Given the description of an element on the screen output the (x, y) to click on. 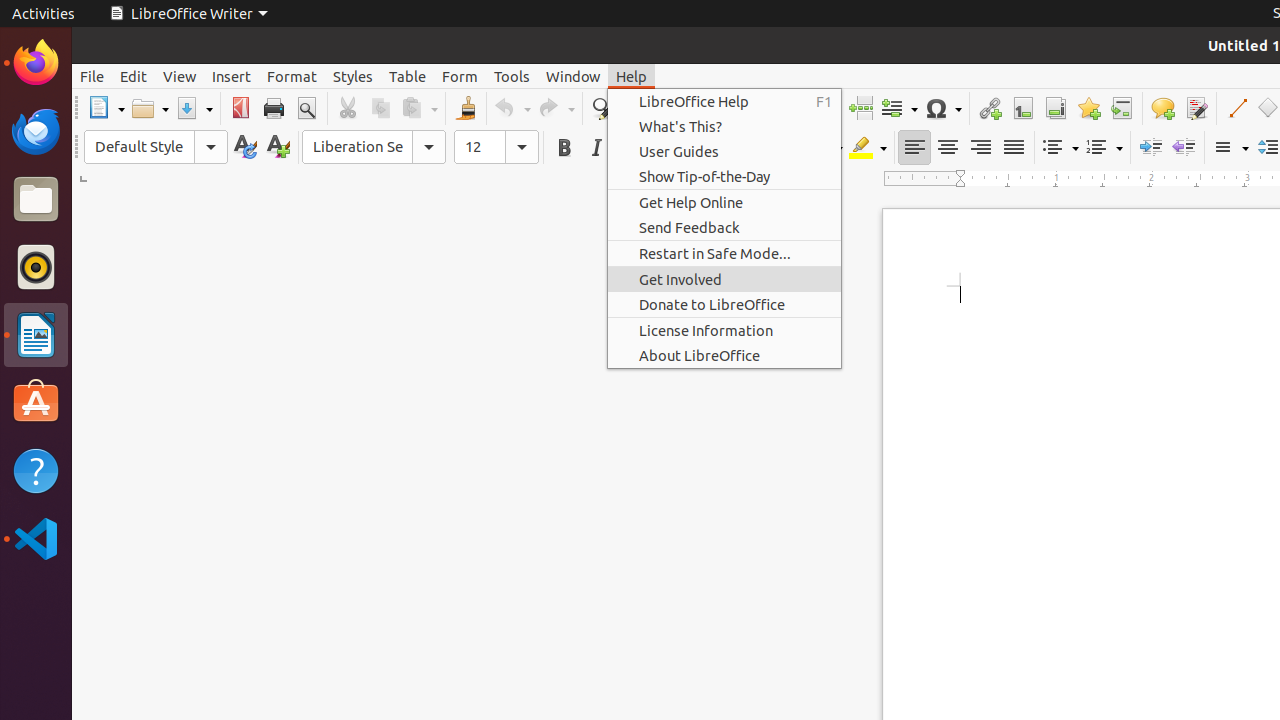
Paste Element type: push-button (419, 108)
